Given the description of an element on the screen output the (x, y) to click on. 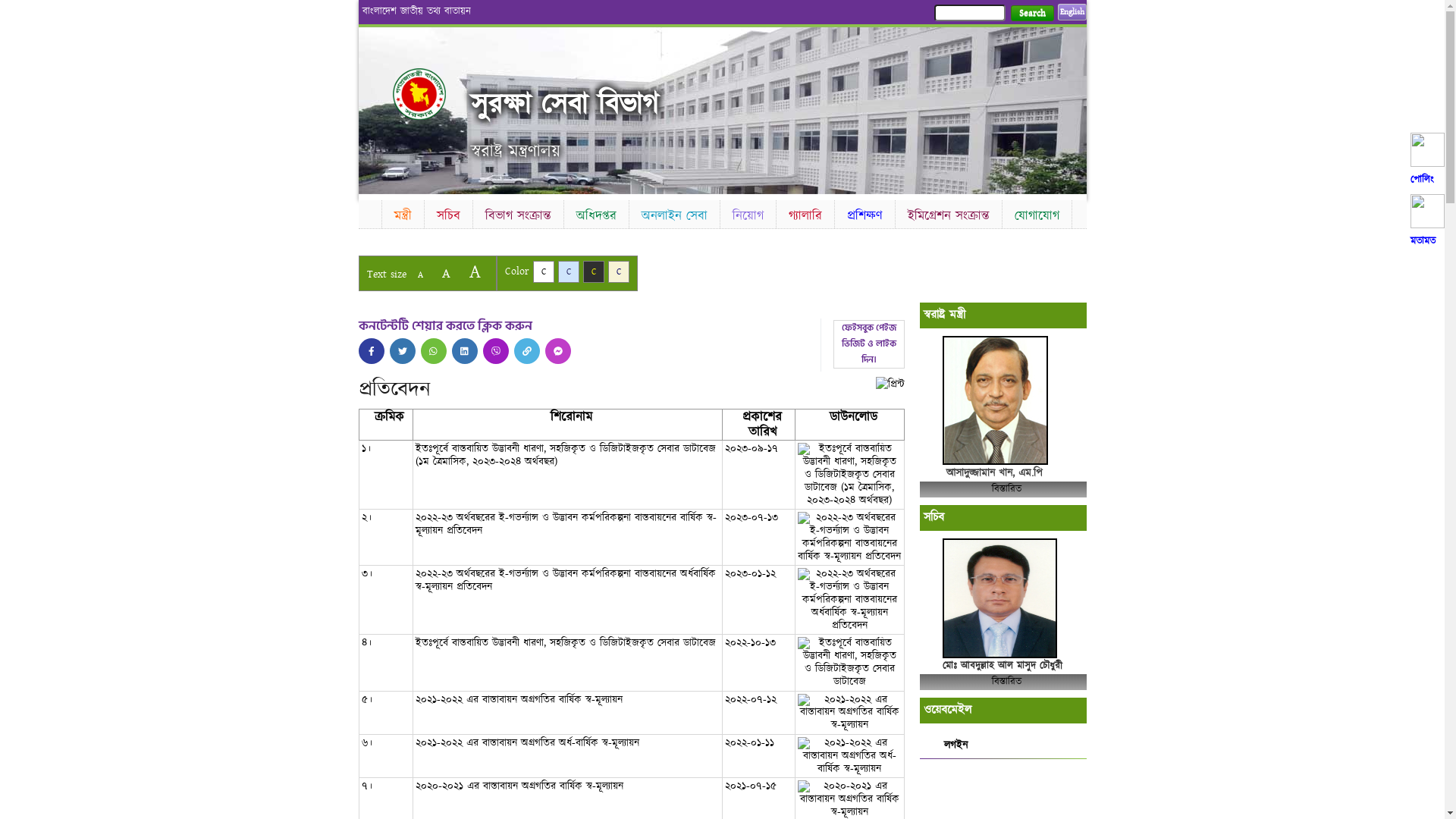
Home Element type: hover (431, 93)
Home Element type: hover (368, 211)
C Element type: text (618, 271)
A Element type: text (474, 271)
C Element type: text (592, 271)
English Element type: text (1071, 11)
A Element type: text (445, 273)
Search Element type: text (1031, 13)
C Element type: text (568, 271)
A Element type: text (419, 274)
C Element type: text (542, 271)
